Given the description of an element on the screen output the (x, y) to click on. 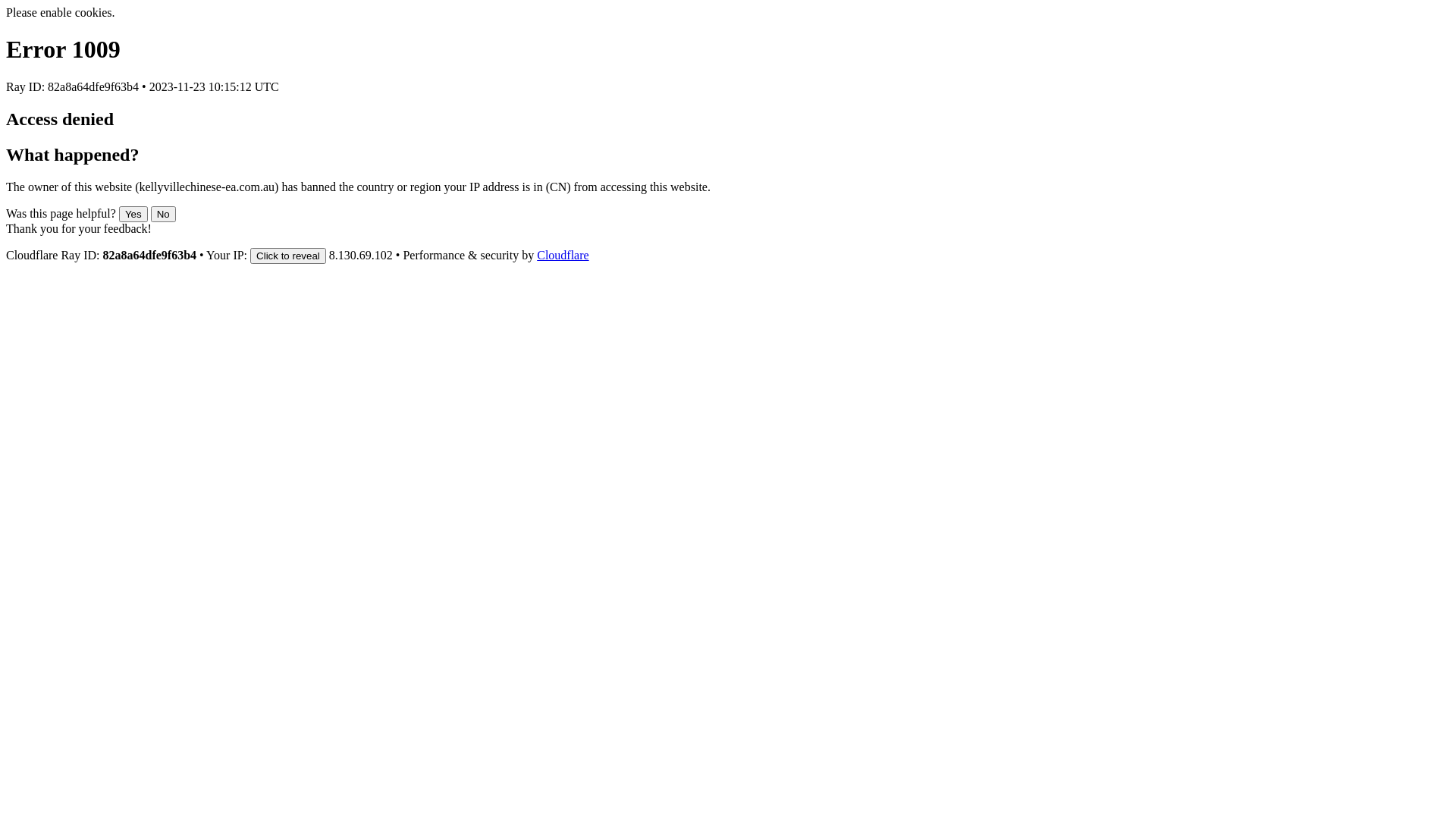
Cloudflare Element type: text (562, 254)
Yes Element type: text (133, 214)
No Element type: text (162, 214)
Click to reveal Element type: text (288, 255)
